Given the description of an element on the screen output the (x, y) to click on. 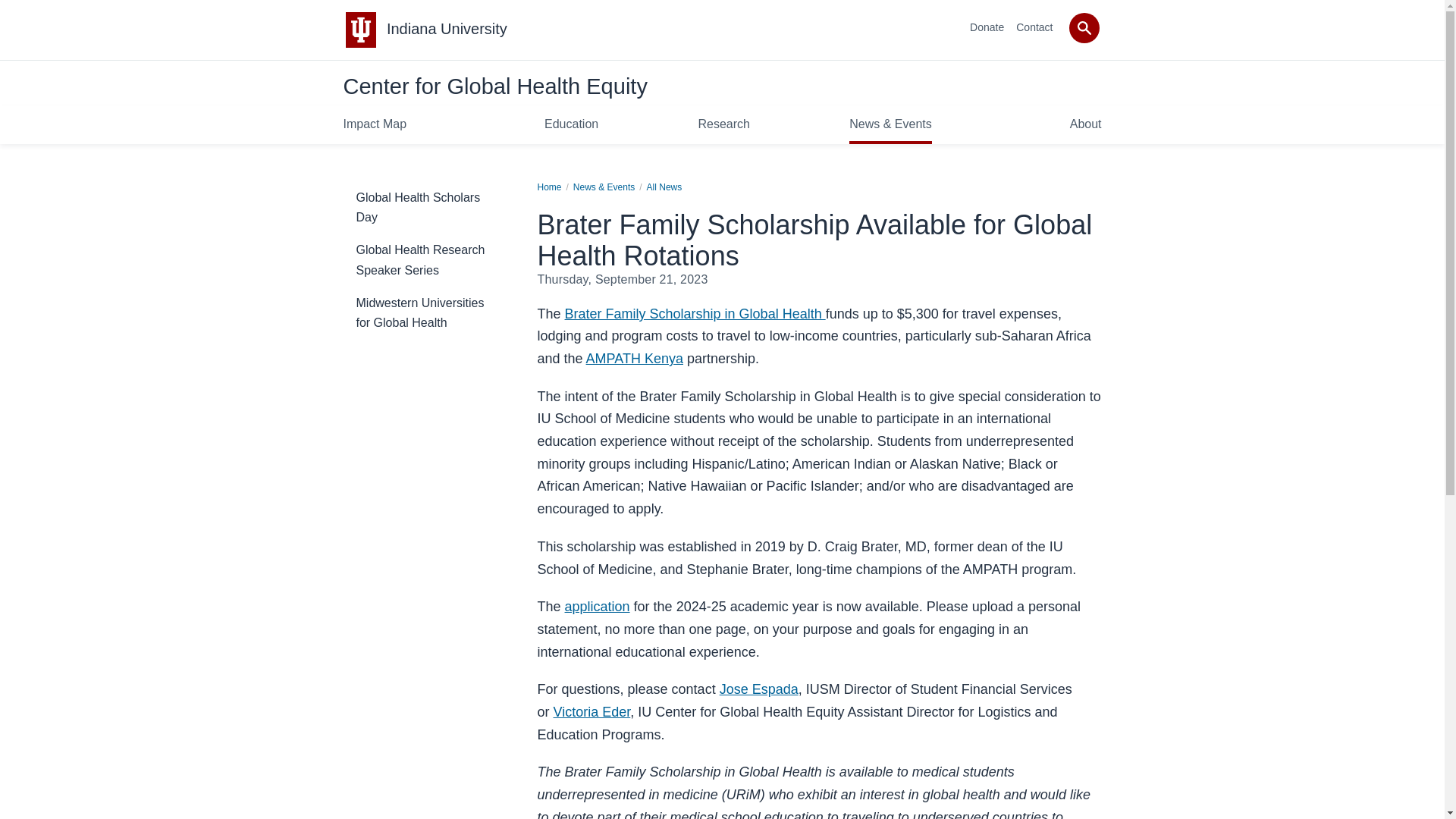
Indiana University (446, 28)
Center for Global Health Equity (494, 86)
Research (723, 124)
Education (571, 124)
Indiana University (446, 28)
Impact Map (374, 124)
